Given the description of an element on the screen output the (x, y) to click on. 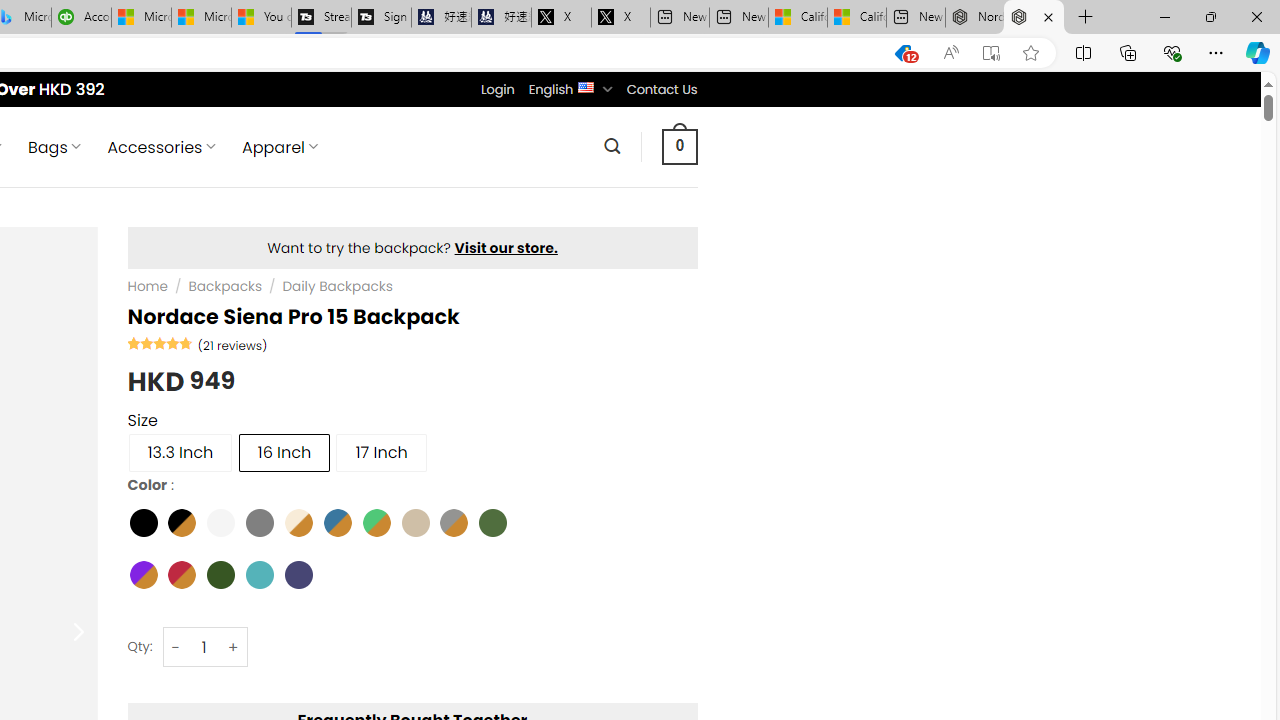
 0  (679, 146)
Streaming Coverage | T3 (320, 17)
Nordace Siena Pro 15 Backpack (1033, 17)
Daily Backpacks (336, 286)
Nordace - Best Sellers (974, 17)
